Given the description of an element on the screen output the (x, y) to click on. 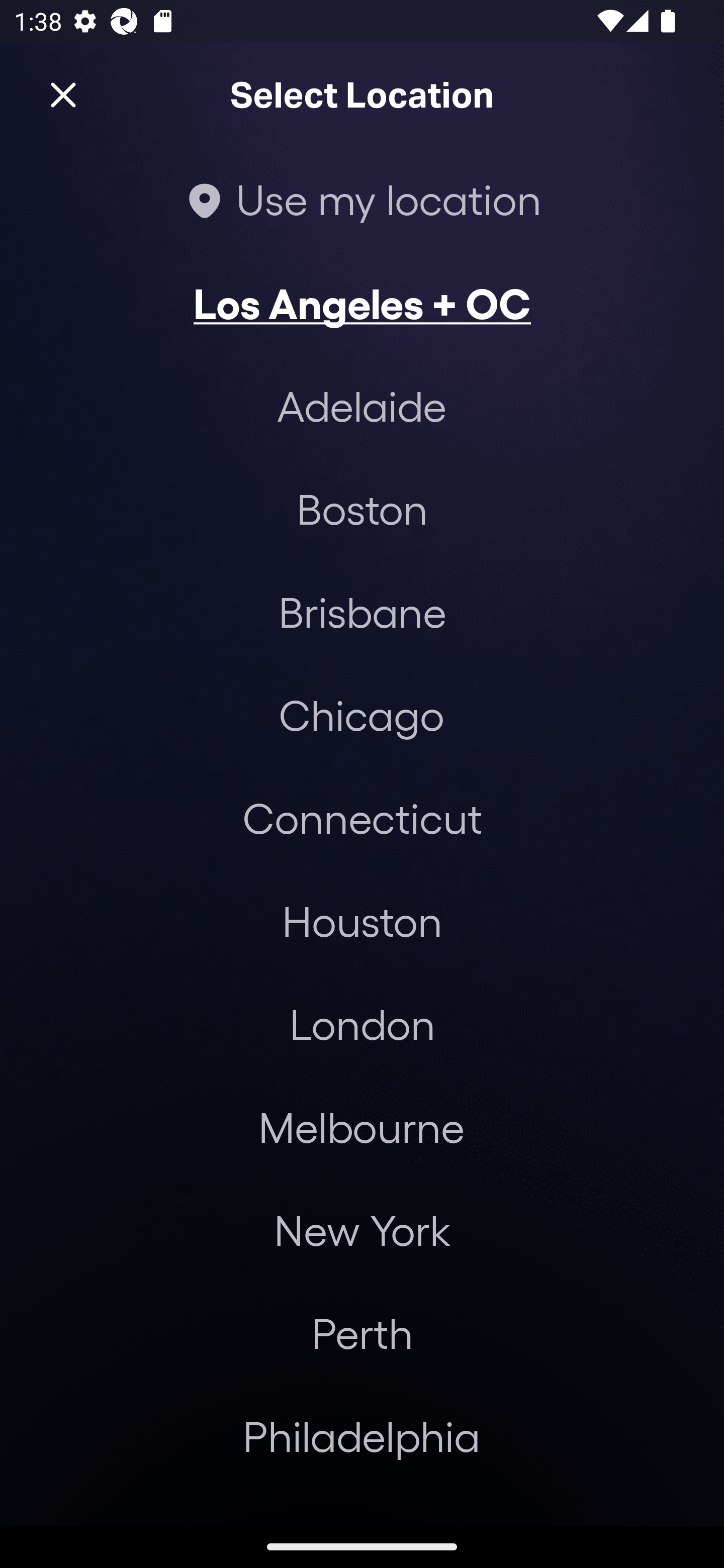
Close (62, 95)
   Use my location (362, 198)
Los Angeles + OC (361, 302)
Adelaide (361, 405)
Boston (361, 508)
Brisbane (361, 611)
Chicago (361, 714)
Connecticut (361, 817)
Houston (361, 920)
London (361, 1023)
Melbourne (361, 1127)
New York (361, 1230)
Perth (361, 1332)
Philadelphia (361, 1436)
